Given the description of an element on the screen output the (x, y) to click on. 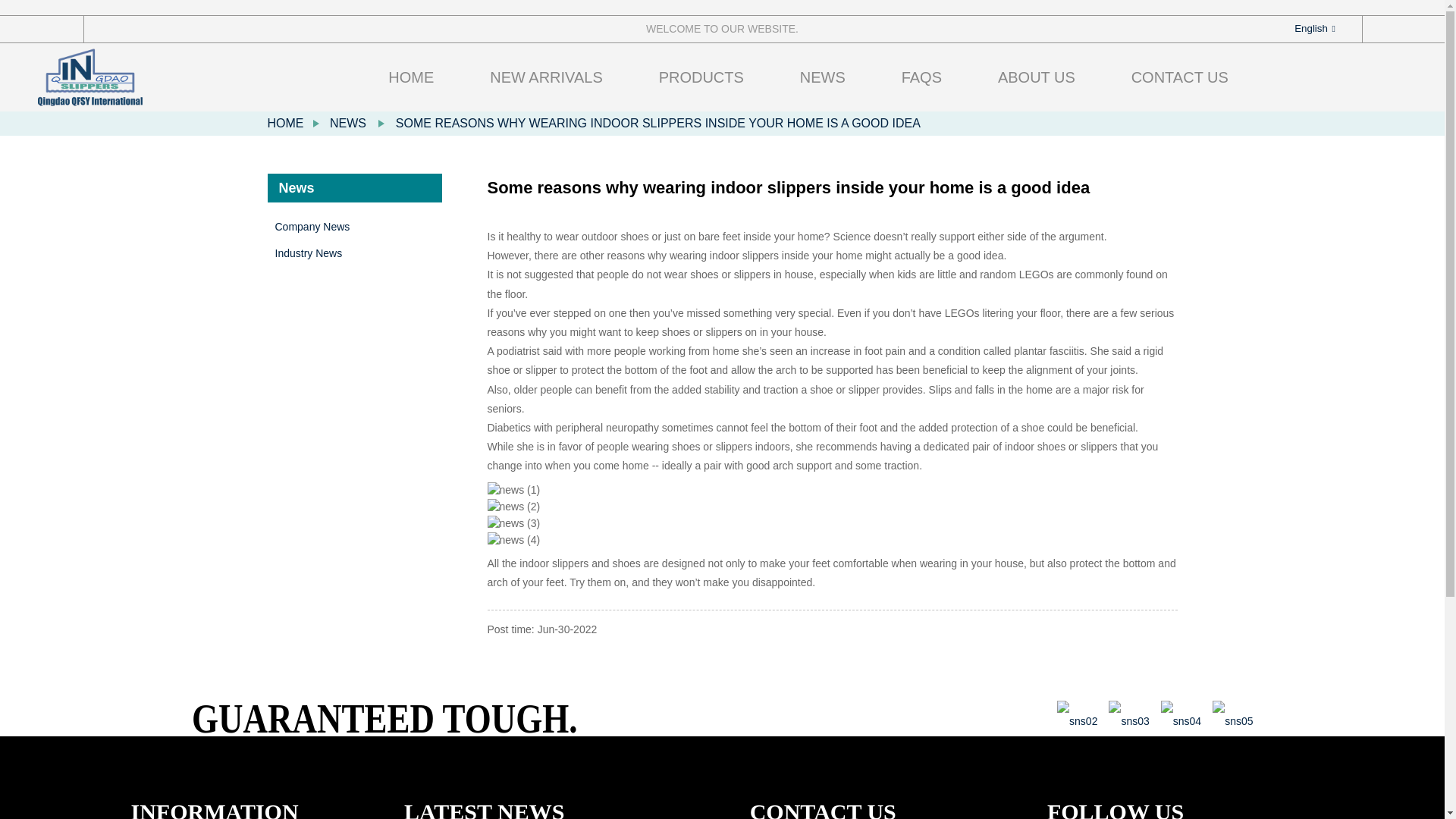
Company News (358, 226)
ABOUT US (1036, 77)
PRODUCTS (701, 77)
NEWS (348, 123)
HOME (284, 123)
English (1302, 28)
CONTACT US (1179, 77)
NEW ARRIVALS (545, 77)
Industry News (358, 253)
